Given the description of an element on the screen output the (x, y) to click on. 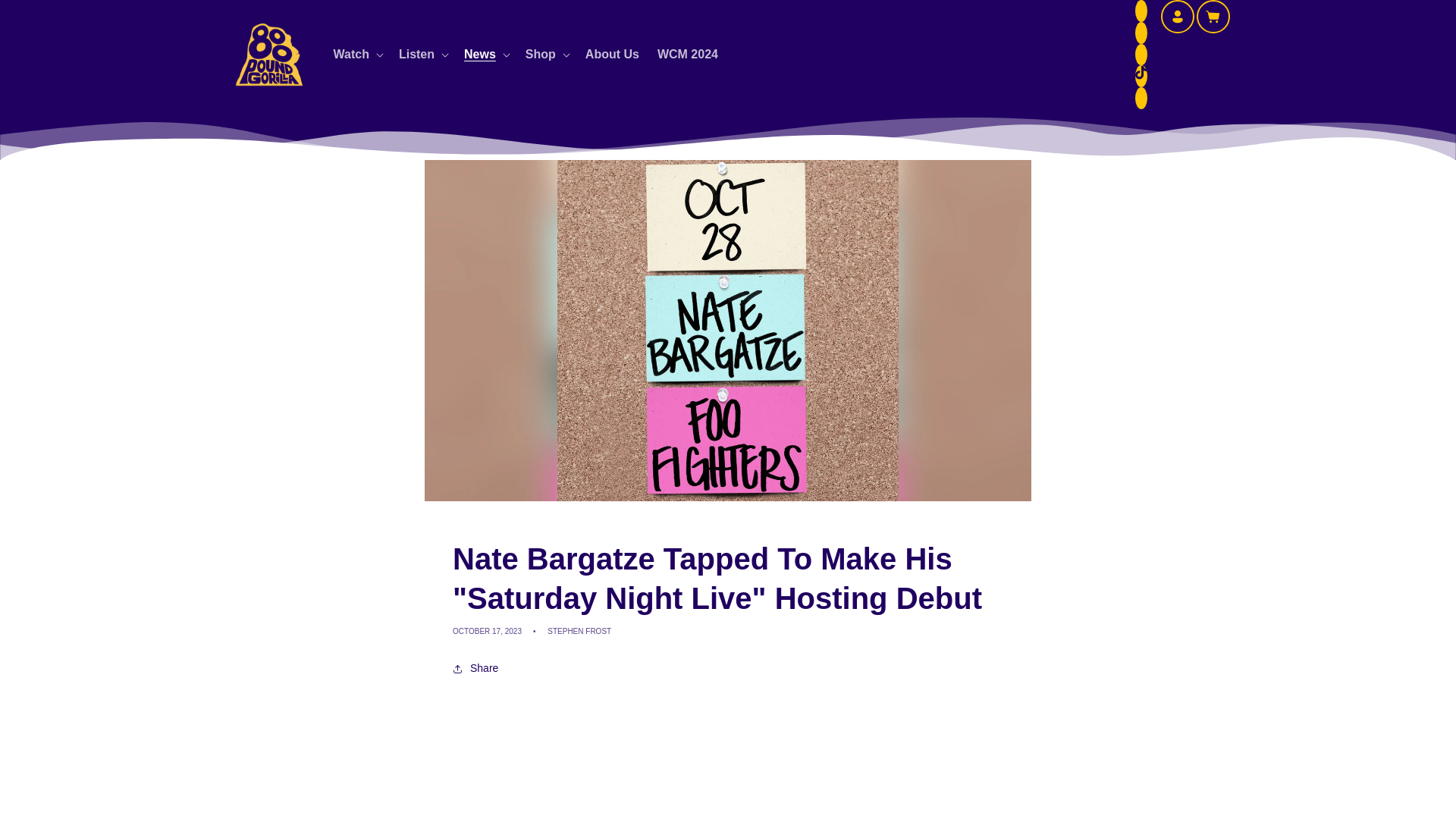
WCM 2024 (686, 54)
About Us (611, 54)
Log in (1176, 16)
Skip to content (45, 17)
